Given the description of an element on the screen output the (x, y) to click on. 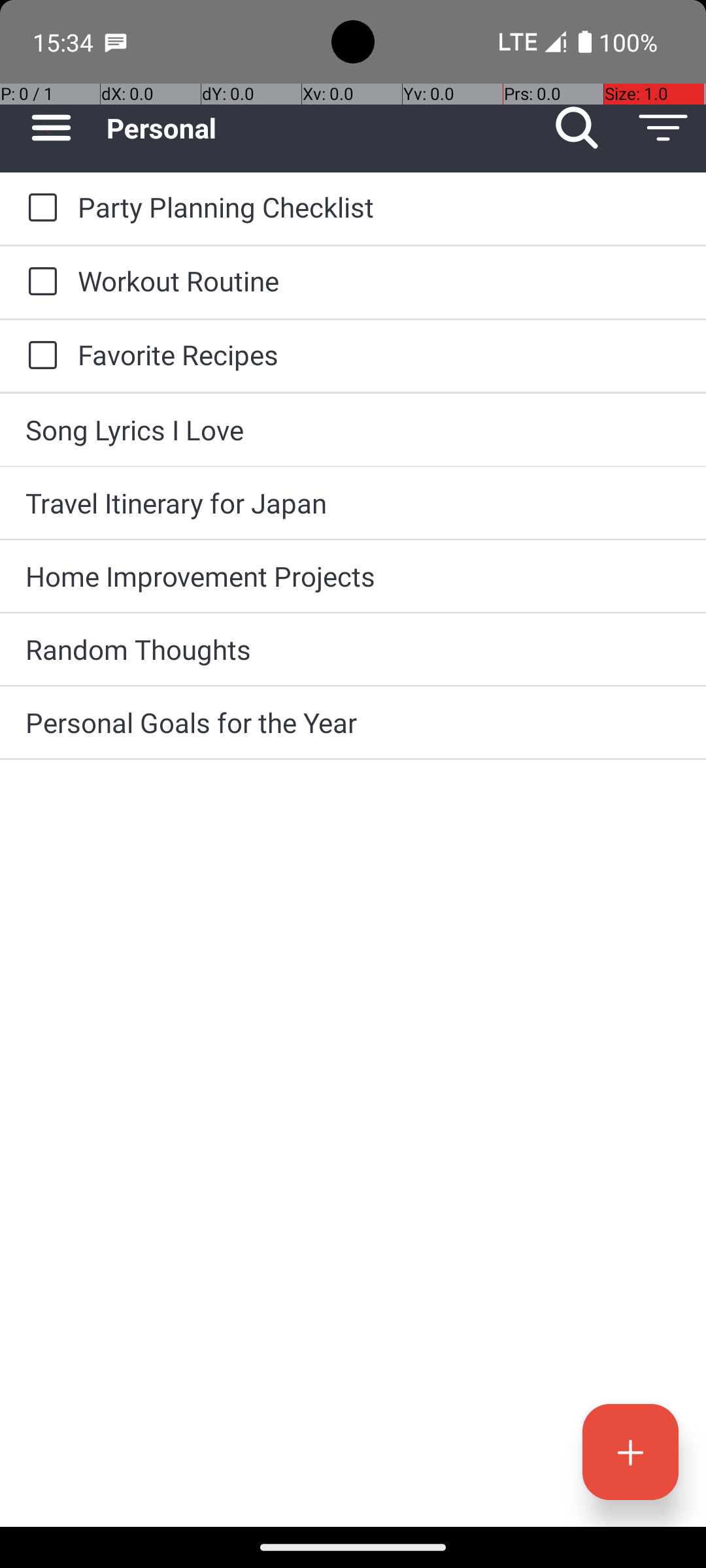
to-do: Party Planning Checklist Element type: android.widget.CheckBox (38, 208)
Party Planning Checklist Element type: android.widget.TextView (378, 206)
to-do: Workout Routine Element type: android.widget.CheckBox (38, 282)
Workout Routine Element type: android.widget.TextView (378, 280)
to-do: Favorite Recipes Element type: android.widget.CheckBox (38, 356)
Favorite Recipes Element type: android.widget.TextView (378, 354)
Song Lyrics I Love Element type: android.widget.TextView (352, 429)
Travel Itinerary for Japan Element type: android.widget.TextView (352, 502)
Home Improvement Projects Element type: android.widget.TextView (352, 575)
Random Thoughts Element type: android.widget.TextView (352, 648)
Personal Goals for the Year Element type: android.widget.TextView (352, 721)
